Given the description of an element on the screen output the (x, y) to click on. 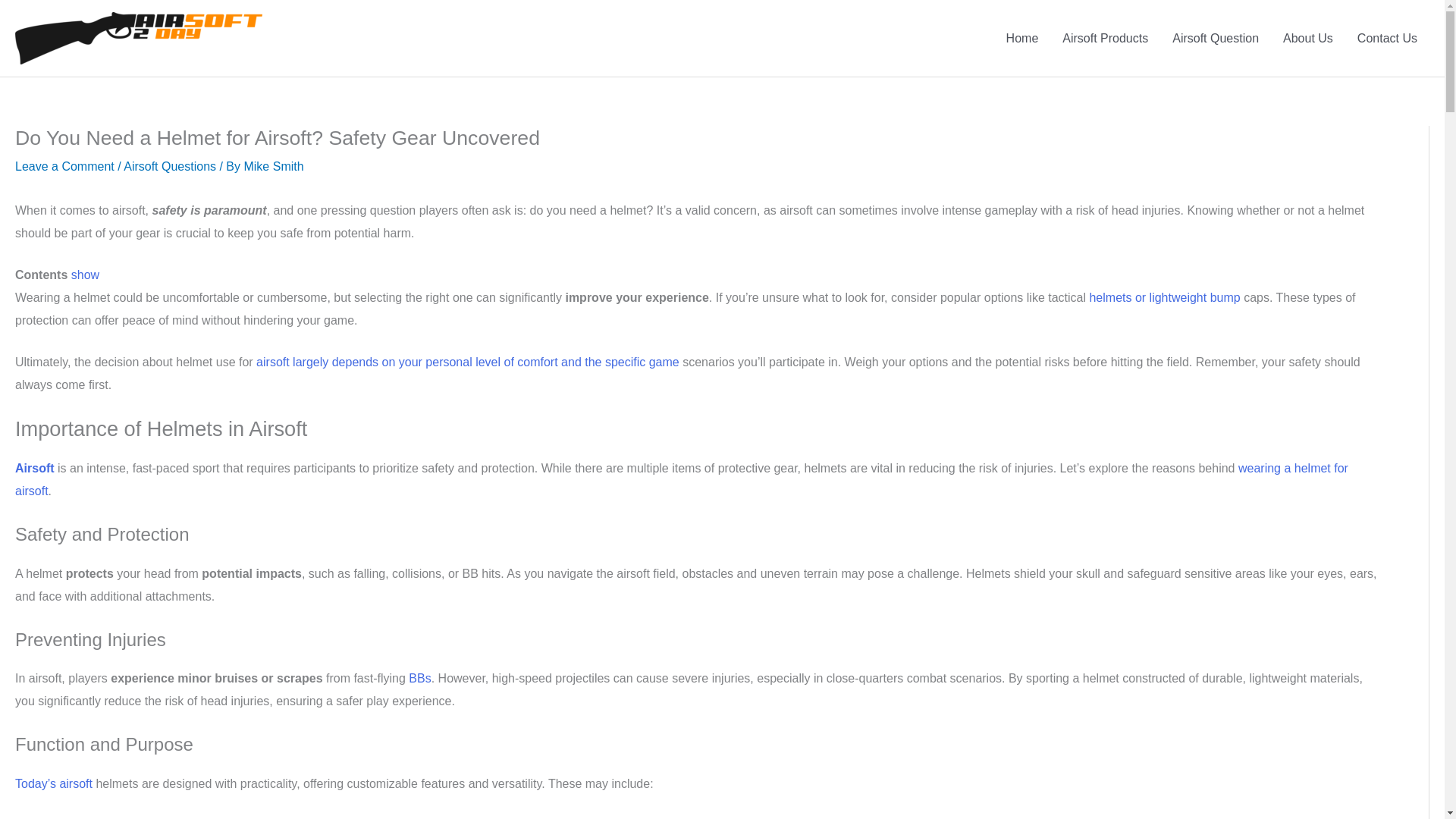
Airsoft Products (1104, 38)
View all posts by Mike Smith (272, 165)
Airsoft Question (1215, 38)
Mike Smith (272, 165)
Leave a Comment (64, 165)
About Us (1308, 38)
show (85, 274)
Airsoft Questions (169, 165)
Contact Us (1387, 38)
